Given the description of an element on the screen output the (x, y) to click on. 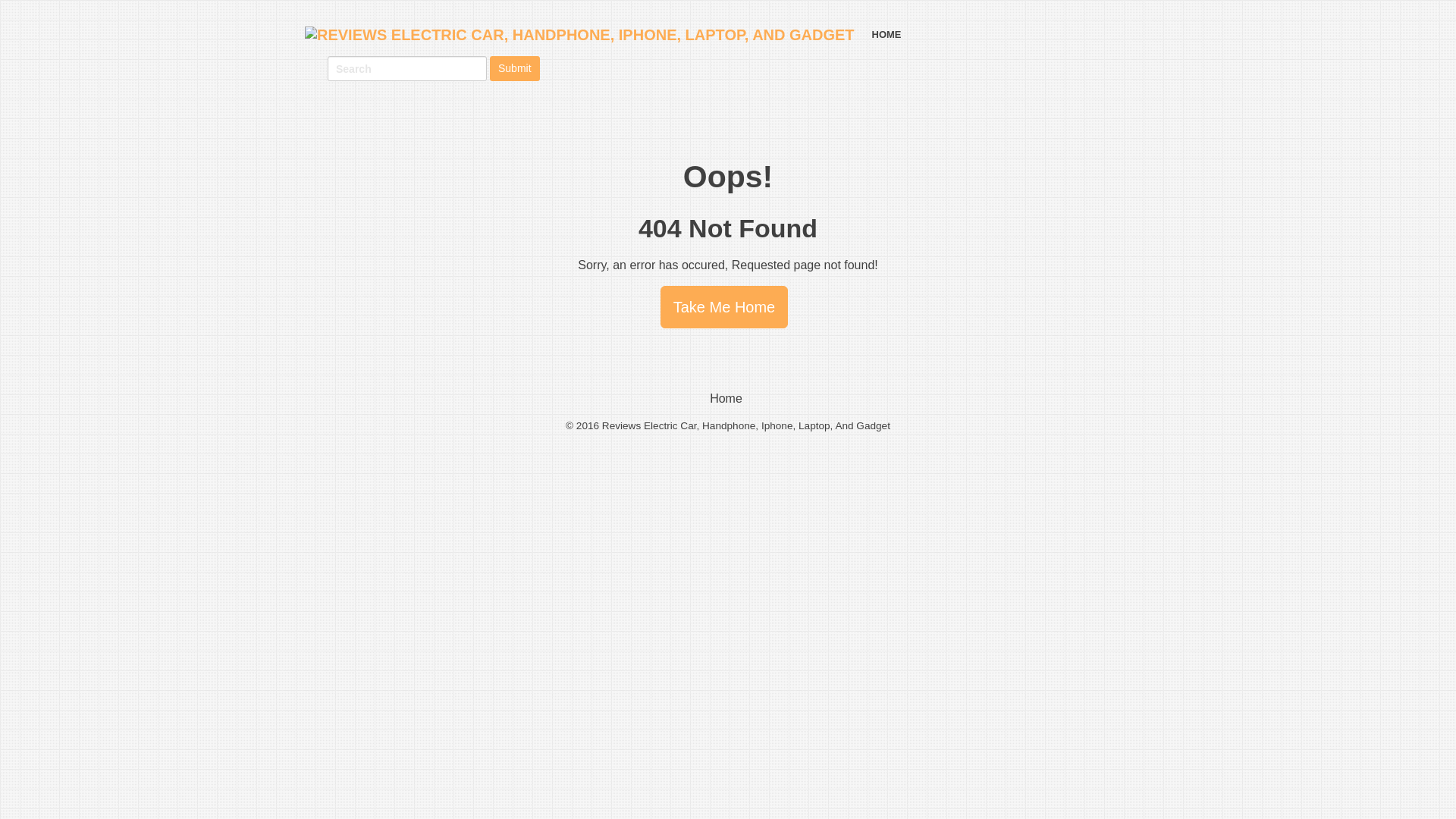
Reviews Electric Car, Handphone, Iphone, Laptop, And Gadget (745, 425)
HOME (886, 34)
Reviews Electric Car, Handphone, Iphone, Laptop, And Gadget (745, 425)
Submit (514, 68)
Take Me Home (725, 306)
Home (726, 398)
